Given the description of an element on the screen output the (x, y) to click on. 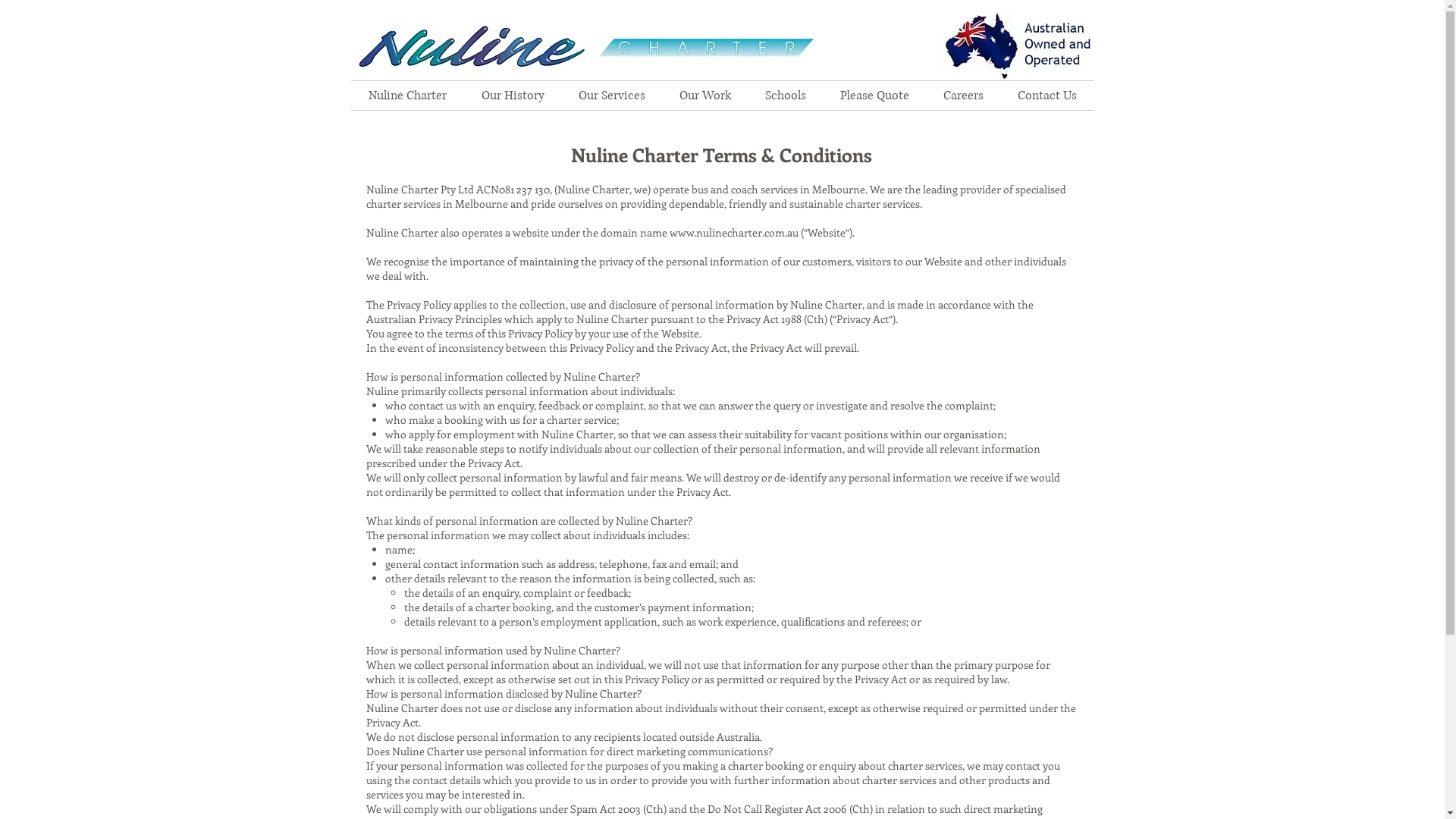
Schools Element type: text (784, 95)
Contact Us Element type: text (1047, 95)
Careers Element type: text (963, 95)
Please Quote Element type: text (874, 95)
www.nulinecharter.com.au Element type: text (732, 232)
Our Work Element type: text (705, 95)
Our Services Element type: text (611, 95)
Nuline Charter Element type: text (406, 95)
Our History Element type: text (512, 95)
